Given the description of an element on the screen output the (x, y) to click on. 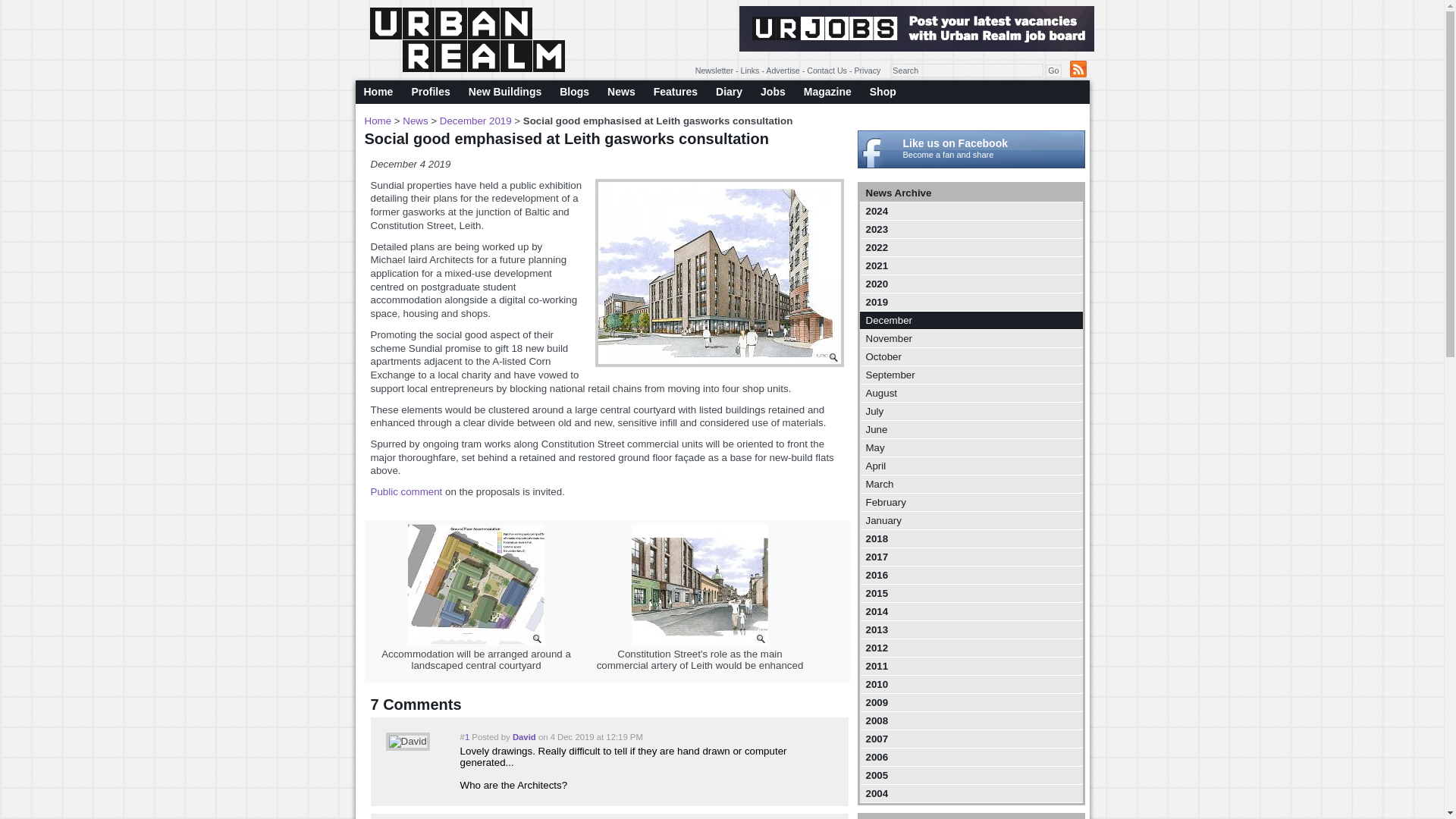
Get our RSS feed (1077, 68)
Shop (882, 92)
Features (675, 92)
News (621, 92)
Urban Realm (466, 39)
Contact Us (826, 70)
Search (966, 69)
Jobs (772, 92)
